Given the description of an element on the screen output the (x, y) to click on. 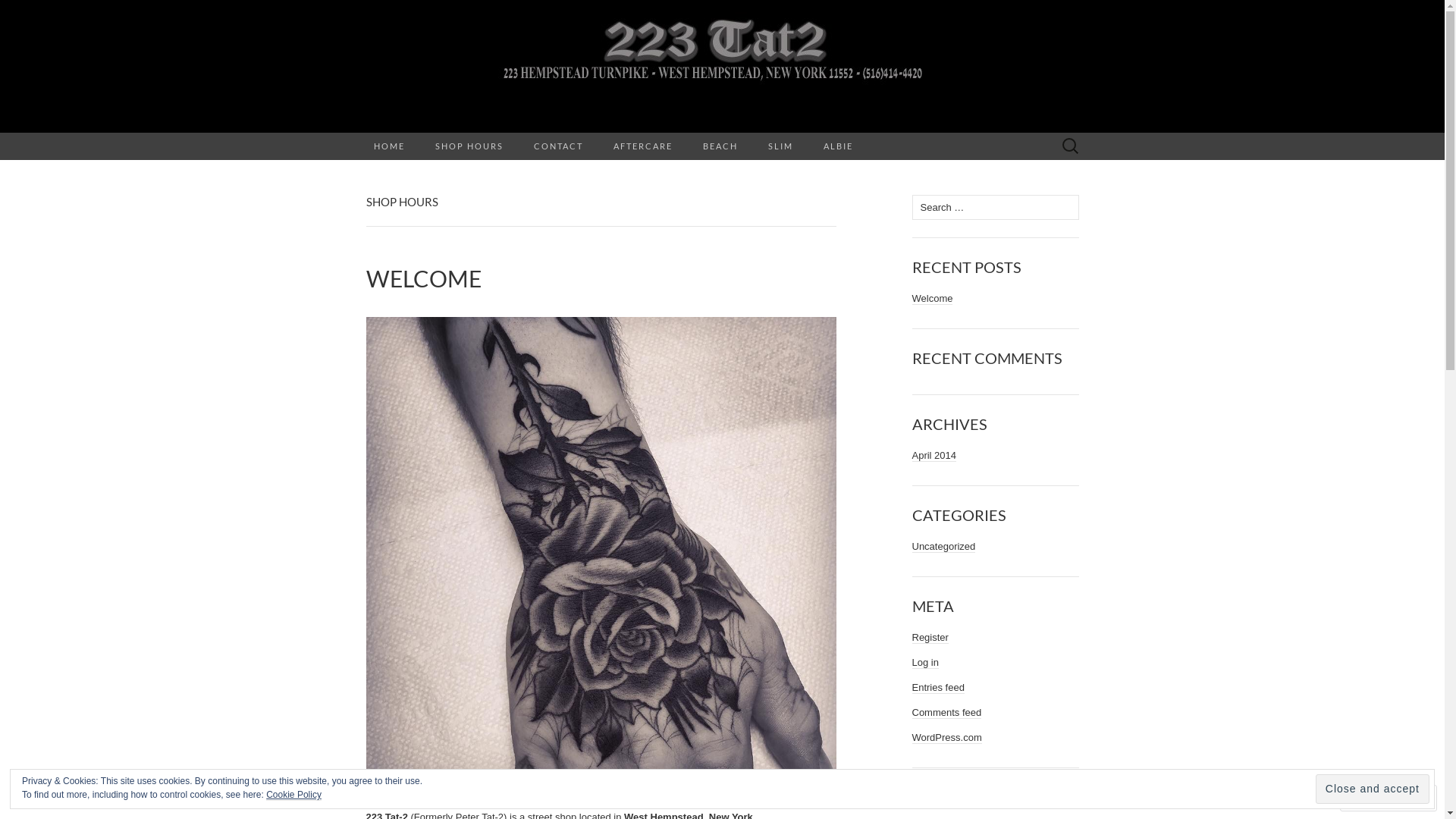
Log in Element type: text (924, 662)
Close and accept Element type: text (1372, 788)
Welcome Element type: text (931, 298)
Cookie Policy Element type: text (293, 794)
SHOP HOURS Element type: text (469, 146)
Search Element type: text (39, 12)
Follow Element type: text (1374, 797)
ALBIE Element type: text (838, 146)
WordPress.com Element type: text (946, 737)
Uncategorized Element type: text (943, 546)
BEACH Element type: text (719, 146)
Register Element type: text (929, 637)
Search Element type: text (15, 12)
CONTACT Element type: text (558, 146)
SLIM Element type: text (779, 146)
HOME Element type: text (388, 146)
April 2014 Element type: text (933, 455)
Entries feed Element type: text (937, 687)
AFTERCARE Element type: text (642, 146)
223 TAT-2
Fine Electric Tattooing, West Hempstead New York Element type: text (721, 66)
Comments feed Element type: text (946, 712)
WELCOME Element type: text (600, 278)
